Given the description of an element on the screen output the (x, y) to click on. 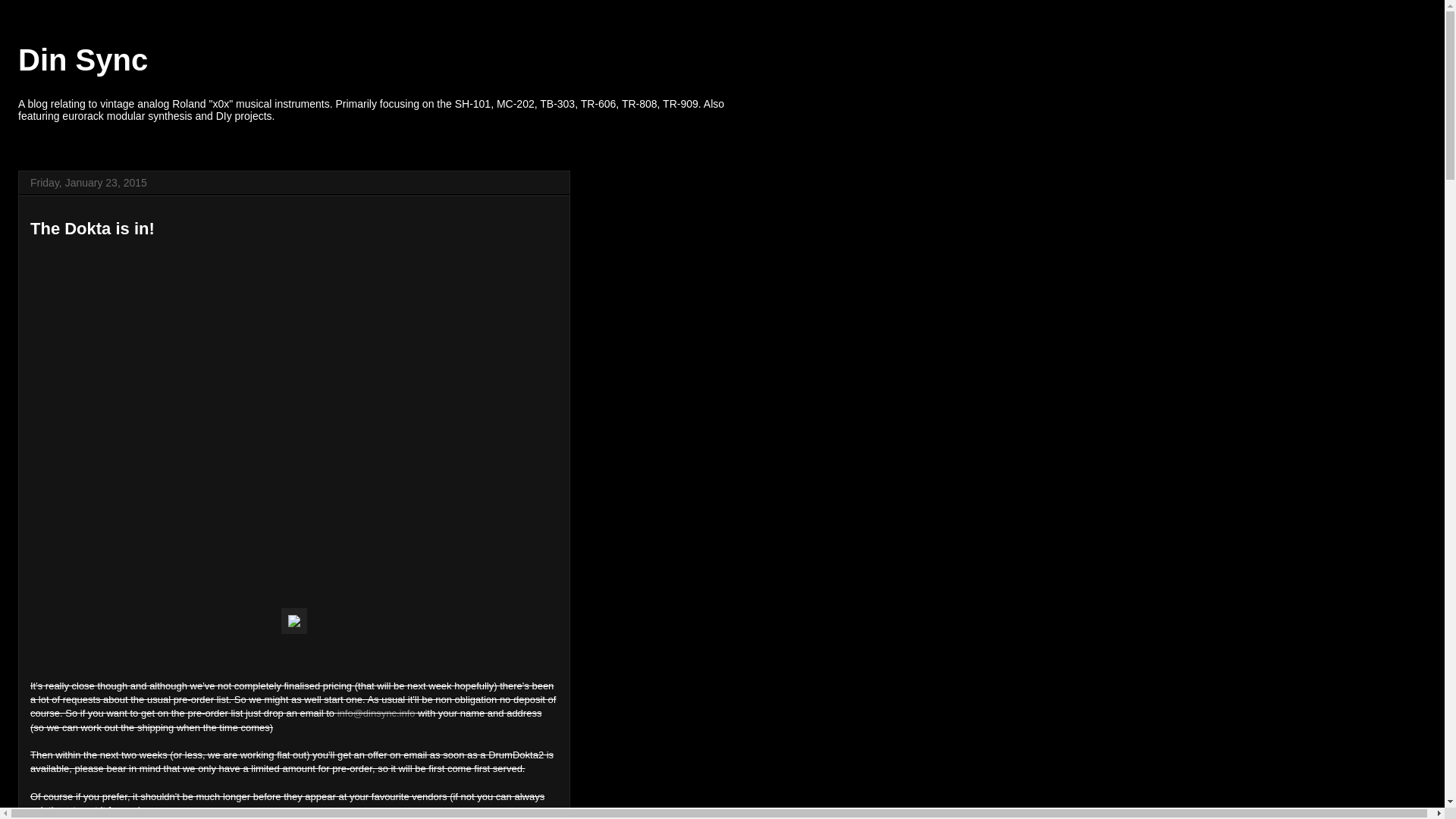
The Dokta is in! (92, 228)
Din Sync (82, 59)
